Given the description of an element on the screen output the (x, y) to click on. 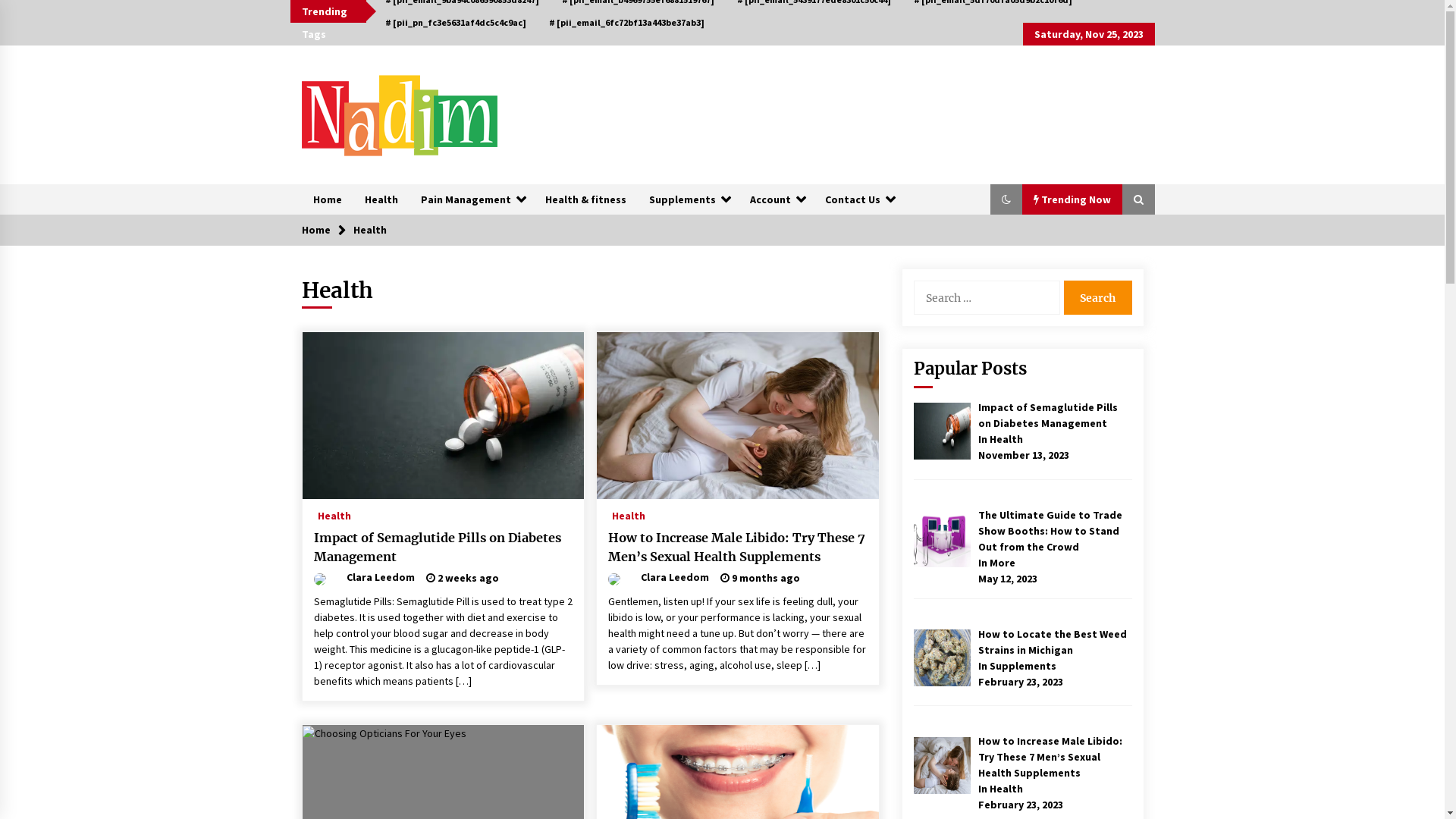
How to Locate the Best Weed Strains in Michigan Element type: hover (941, 657)
Health & fitness Element type: text (585, 199)
Account Element type: text (775, 199)
How to Locate the Best Weed Strains in Michigan Element type: text (1052, 641)
Impact of Semaglutide Pills on Diabetes Management Element type: hover (442, 415)
# [pii_email_6fc72bf13a443be37ab3] Element type: text (626, 22)
Clara Leedom Element type: text (658, 576)
Health Element type: text (333, 511)
Contact Us Element type: text (857, 199)
Supplements Element type: text (687, 199)
Health Element type: text (628, 511)
Home Element type: text (327, 199)
Impact of Semaglutide Pills on Diabetes Management Element type: text (443, 546)
Health Element type: text (381, 199)
Pain Management Element type: text (471, 199)
Health Element type: text (369, 229)
Search Element type: text (1097, 297)
Home Element type: text (315, 229)
Clara Leedom Element type: text (363, 576)
Choosing Opticians For Your Eyes Element type: hover (383, 733)
Nadim Health Care Element type: text (412, 178)
Impact of Semaglutide Pills on Diabetes Management Element type: text (1047, 414)
Impact of Semaglutide Pills on Diabetes Management Element type: hover (941, 430)
# [pii_pn_fc3e5631af4dc5c4c9ac] Element type: text (455, 22)
